Given the description of an element on the screen output the (x, y) to click on. 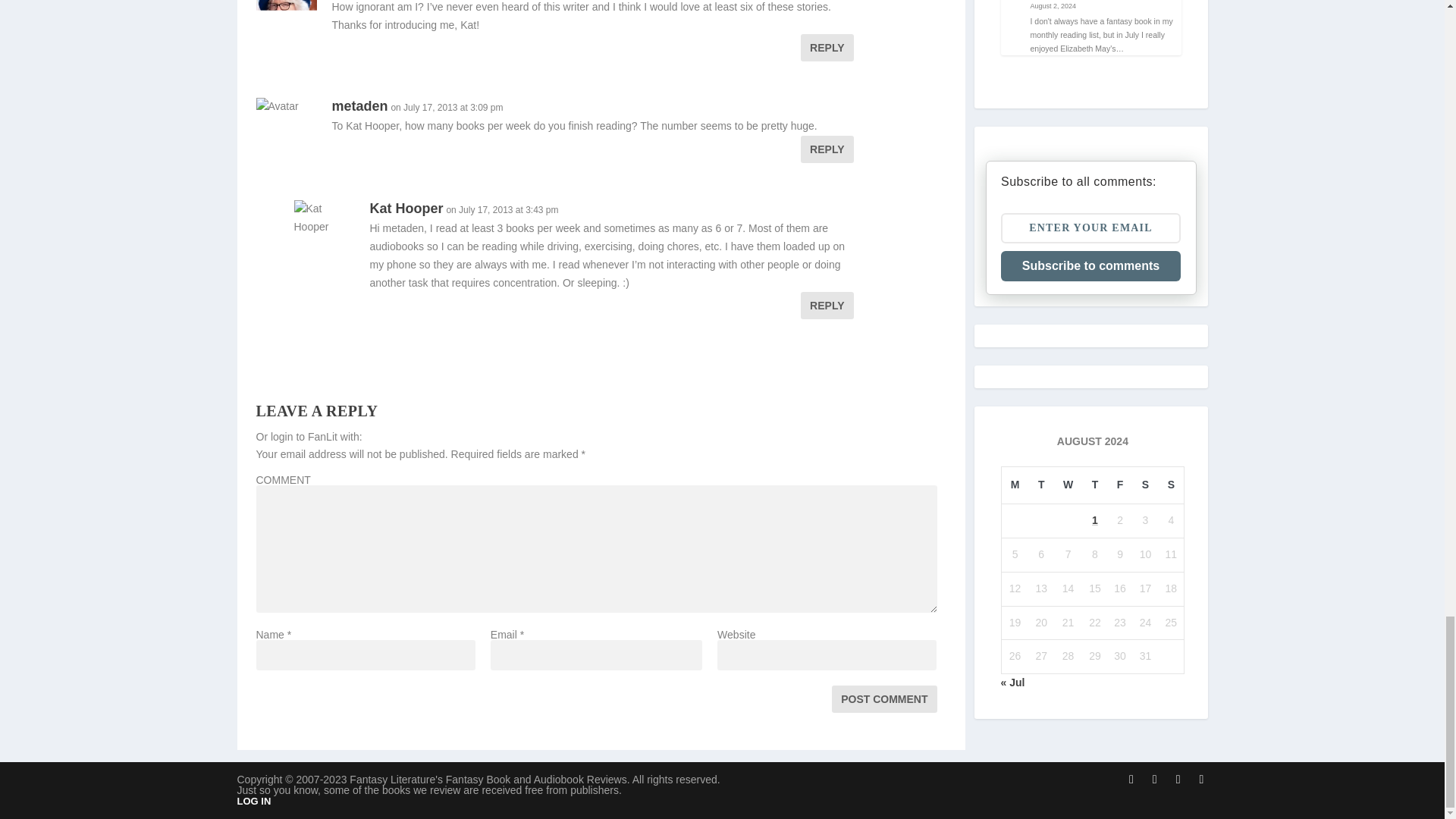
Post Comment (883, 698)
